Given the description of an element on the screen output the (x, y) to click on. 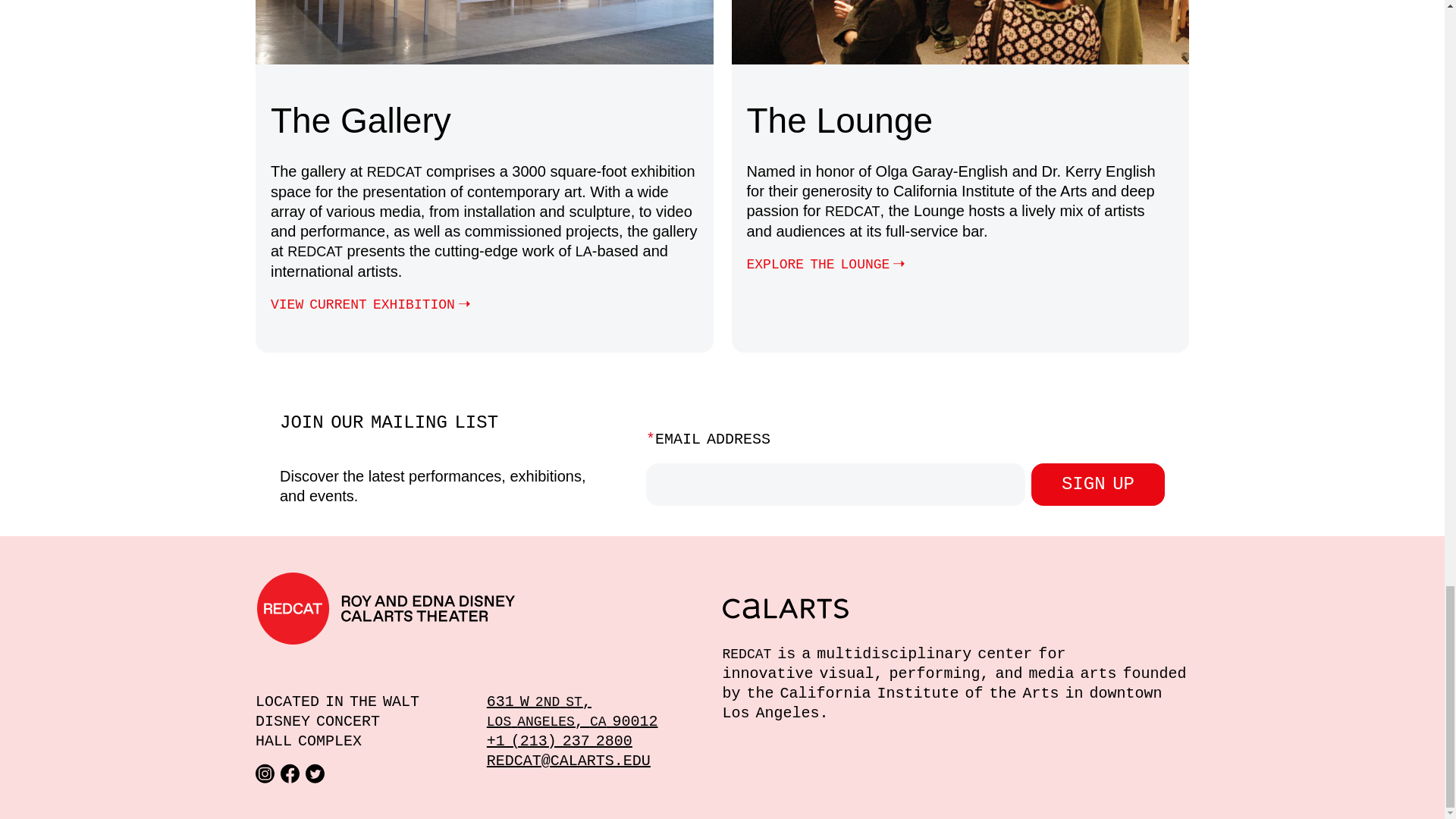
EXPLORE THE LOUNGE (827, 263)
Instagram (265, 772)
CalArts (955, 608)
Twitter (314, 772)
REDCAT Lounge (827, 263)
REDCAT home (489, 608)
Sign Up (1097, 484)
Facebook (290, 772)
Sign Up (1097, 484)
VIEW CURRENT EXHIBITION (373, 303)
